Given the description of an element on the screen output the (x, y) to click on. 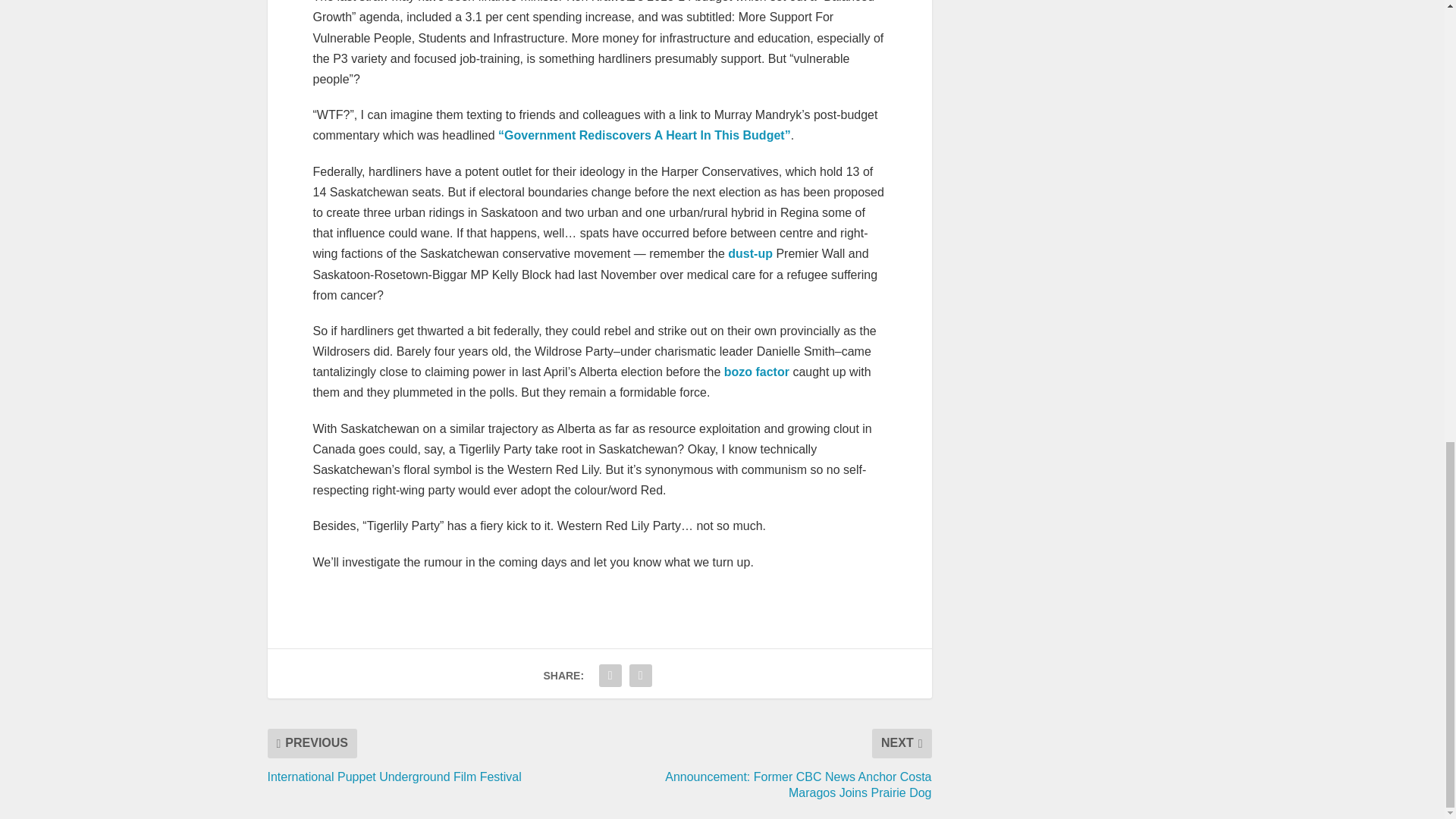
bozo factor (756, 371)
Share "Any Truth To The Rumour?" via Facebook (610, 675)
Share "Any Truth To The Rumour?" via Twitter (641, 675)
dust-up (750, 253)
